Given the description of an element on the screen output the (x, y) to click on. 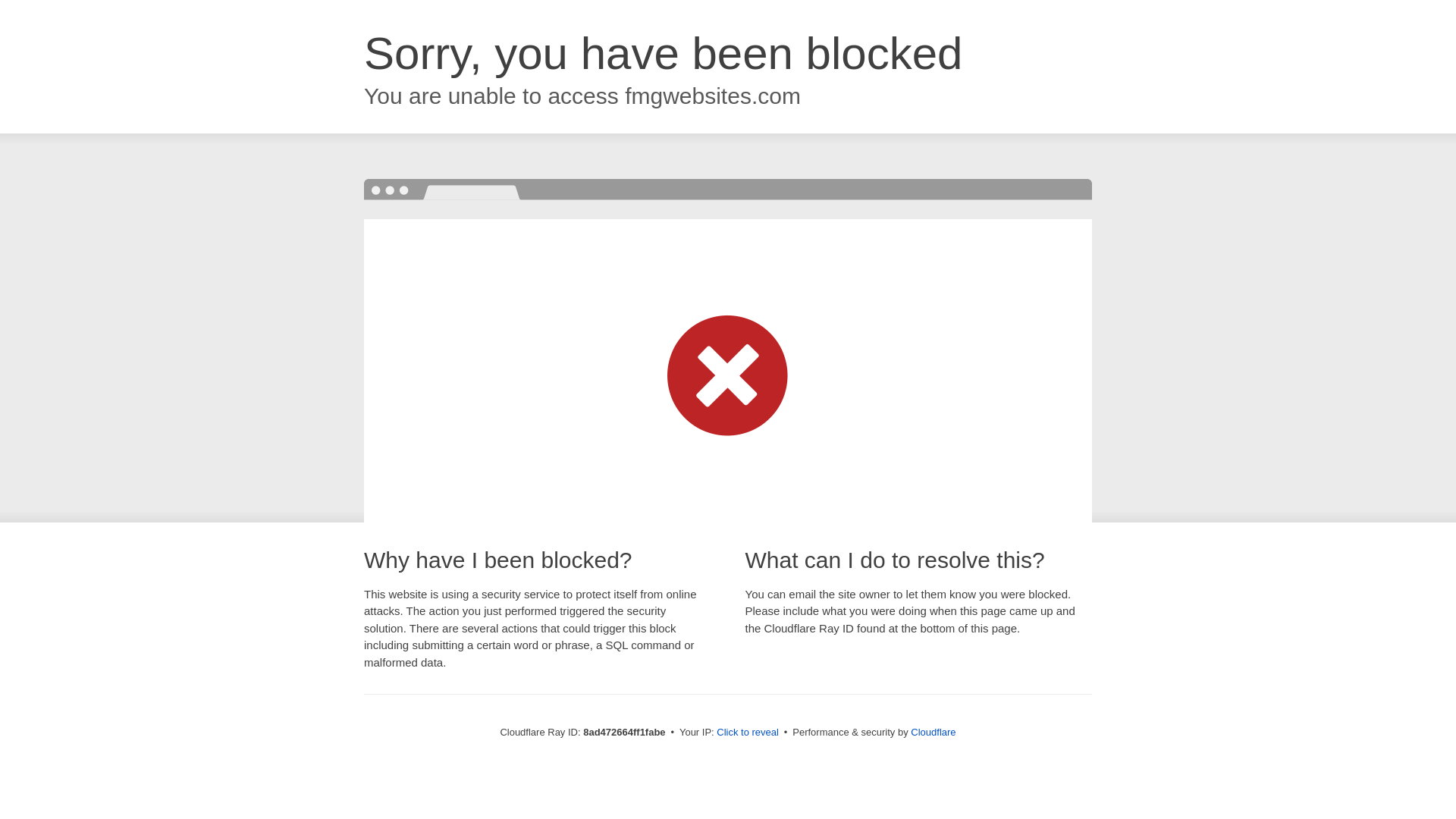
Cloudflare (933, 731)
Click to reveal (747, 732)
